Given the description of an element on the screen output the (x, y) to click on. 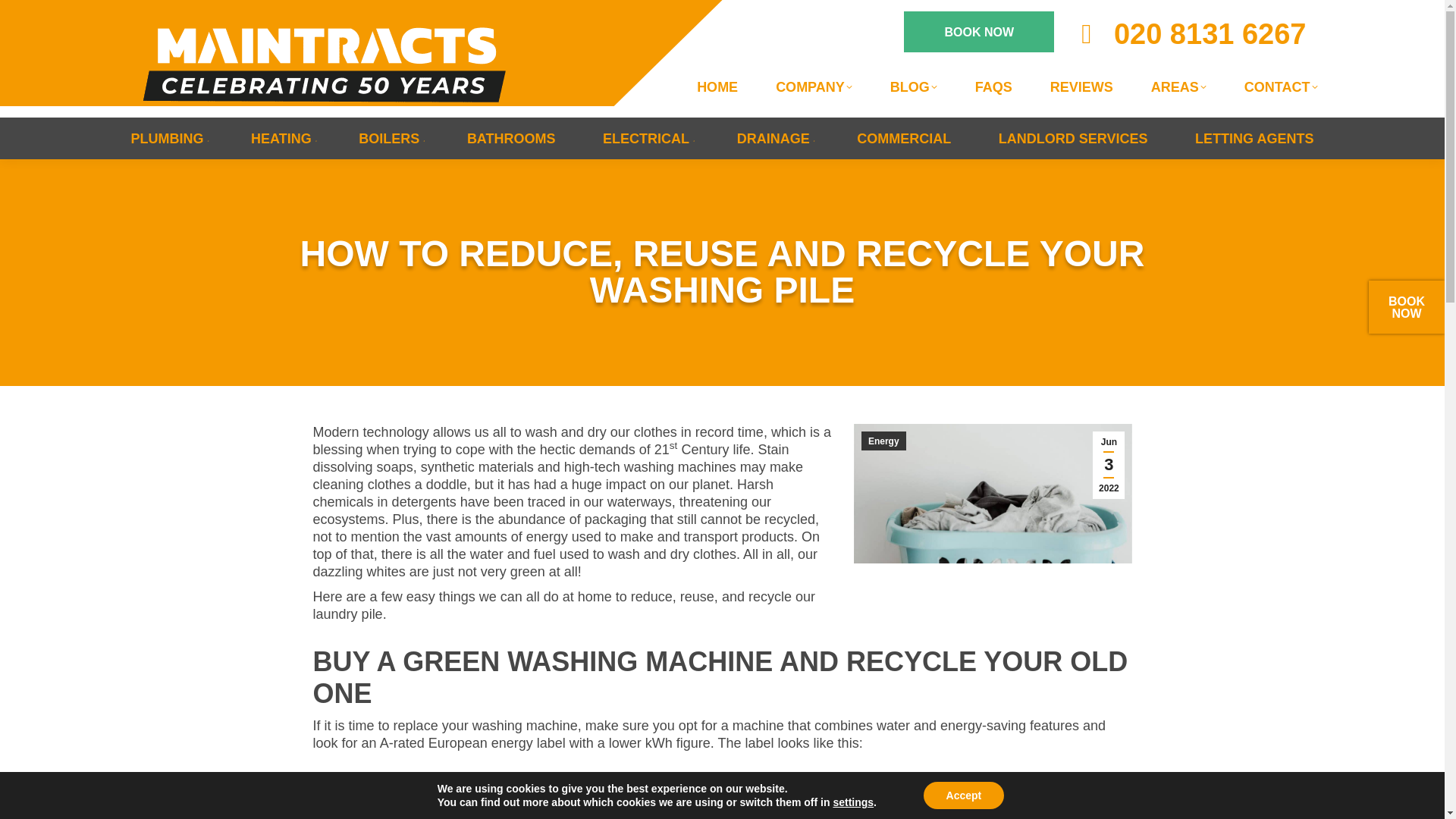
REVIEWS (1081, 87)
FAQS (993, 87)
HOME (717, 87)
020 8131 6267 (1187, 33)
BLOG (913, 87)
AREAS (1179, 87)
laundry (992, 493)
COMPANY (813, 87)
BOOK NOW (979, 31)
